Given the description of an element on the screen output the (x, y) to click on. 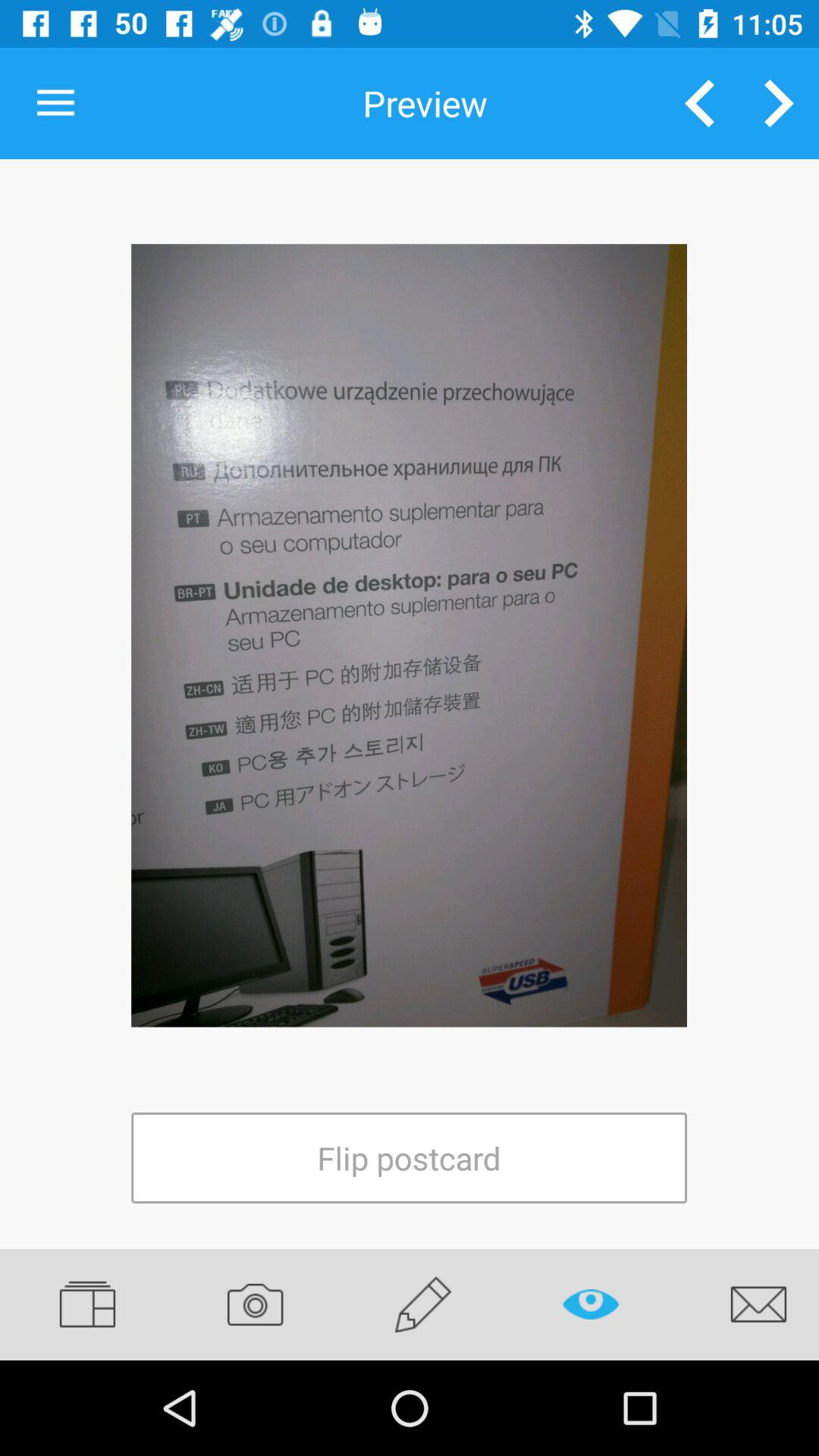
entire screen icon (409, 635)
